Given the description of an element on the screen output the (x, y) to click on. 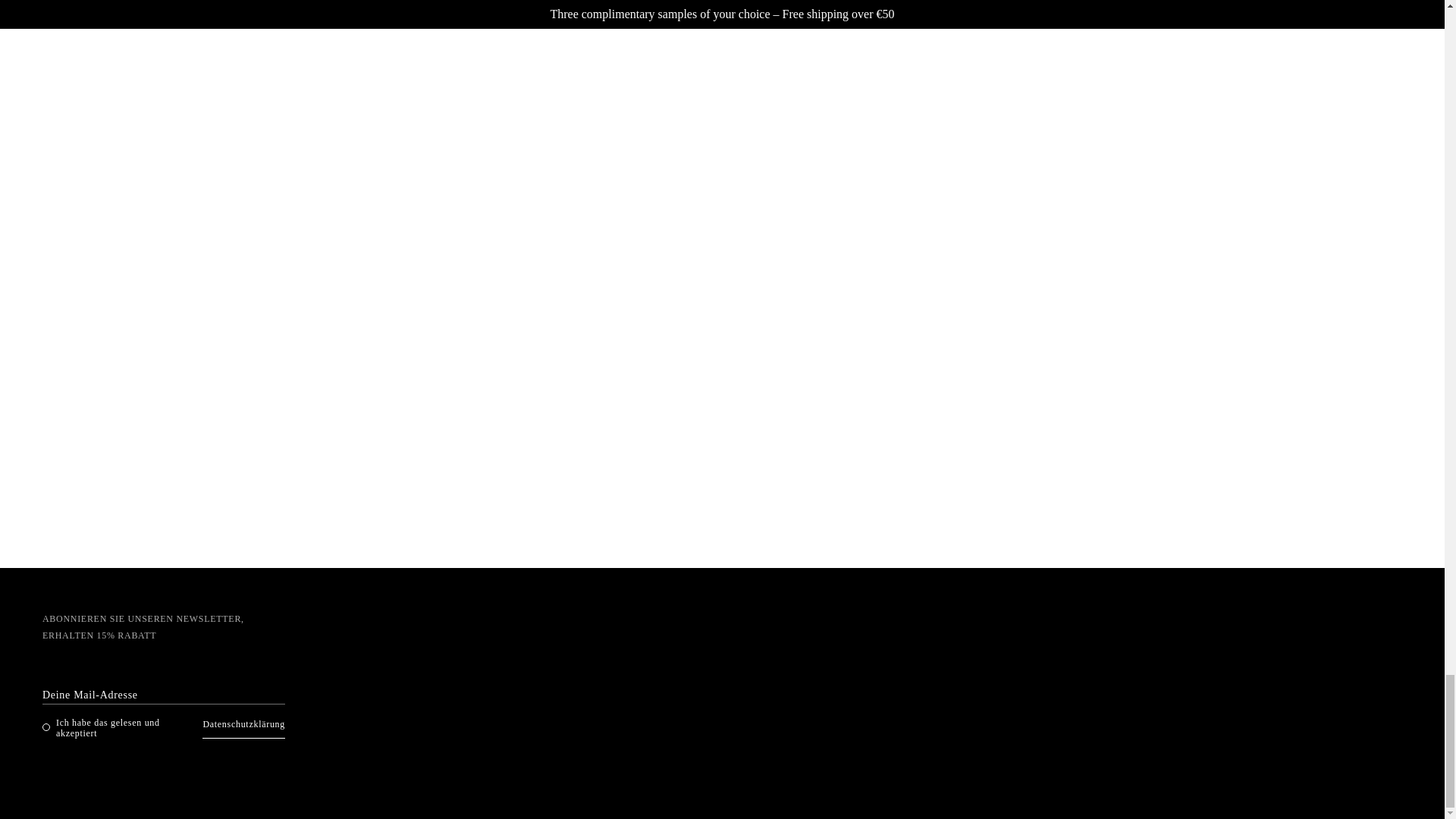
FILL OUT FORM (1185, 312)
READ MORE (258, 291)
DISCOVER (721, 291)
